Given the description of an element on the screen output the (x, y) to click on. 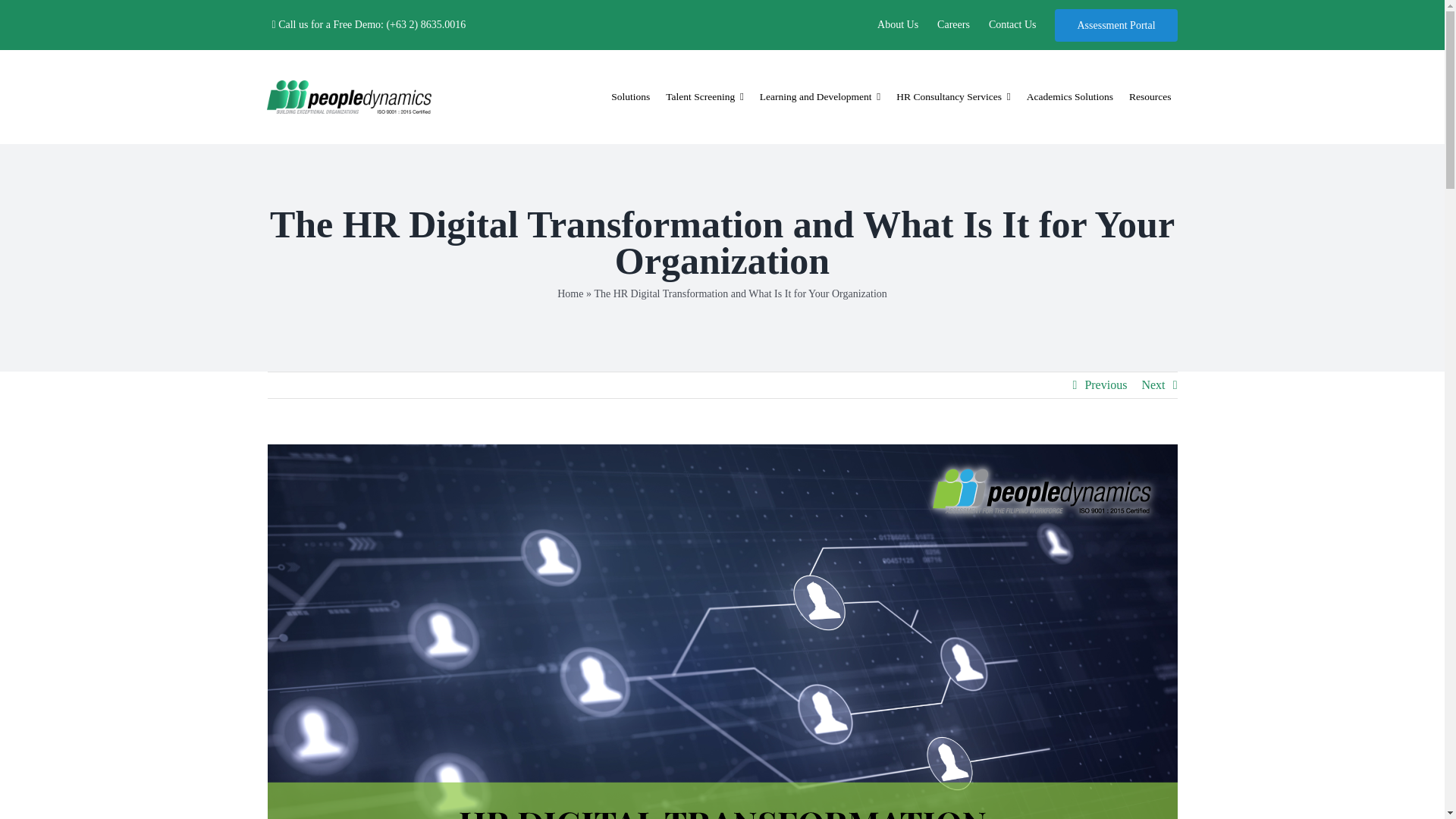
Careers (953, 24)
Previous (1105, 385)
Home (570, 293)
Assessment Portal (1115, 24)
Academics Solutions (1069, 96)
Solutions (630, 96)
Talent Screening (704, 96)
Next (1152, 385)
Contact Us (1012, 24)
HR Consultancy Services (952, 96)
Learning and Development (820, 96)
About Us (897, 24)
Resources (1149, 96)
